Given the description of an element on the screen output the (x, y) to click on. 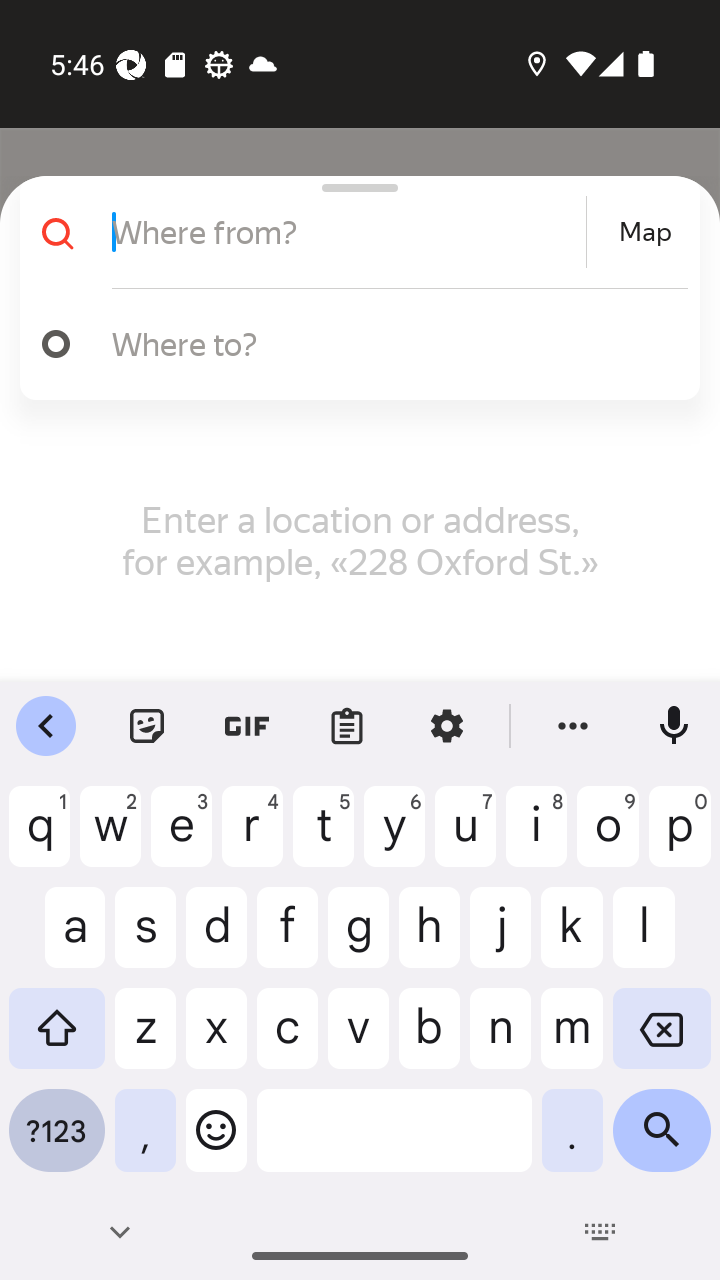
Where from? Map Map (352, 232)
Map (645, 232)
Where from? (346, 232)
Where to? (352, 343)
Where to? (390, 343)
